Given the description of an element on the screen output the (x, y) to click on. 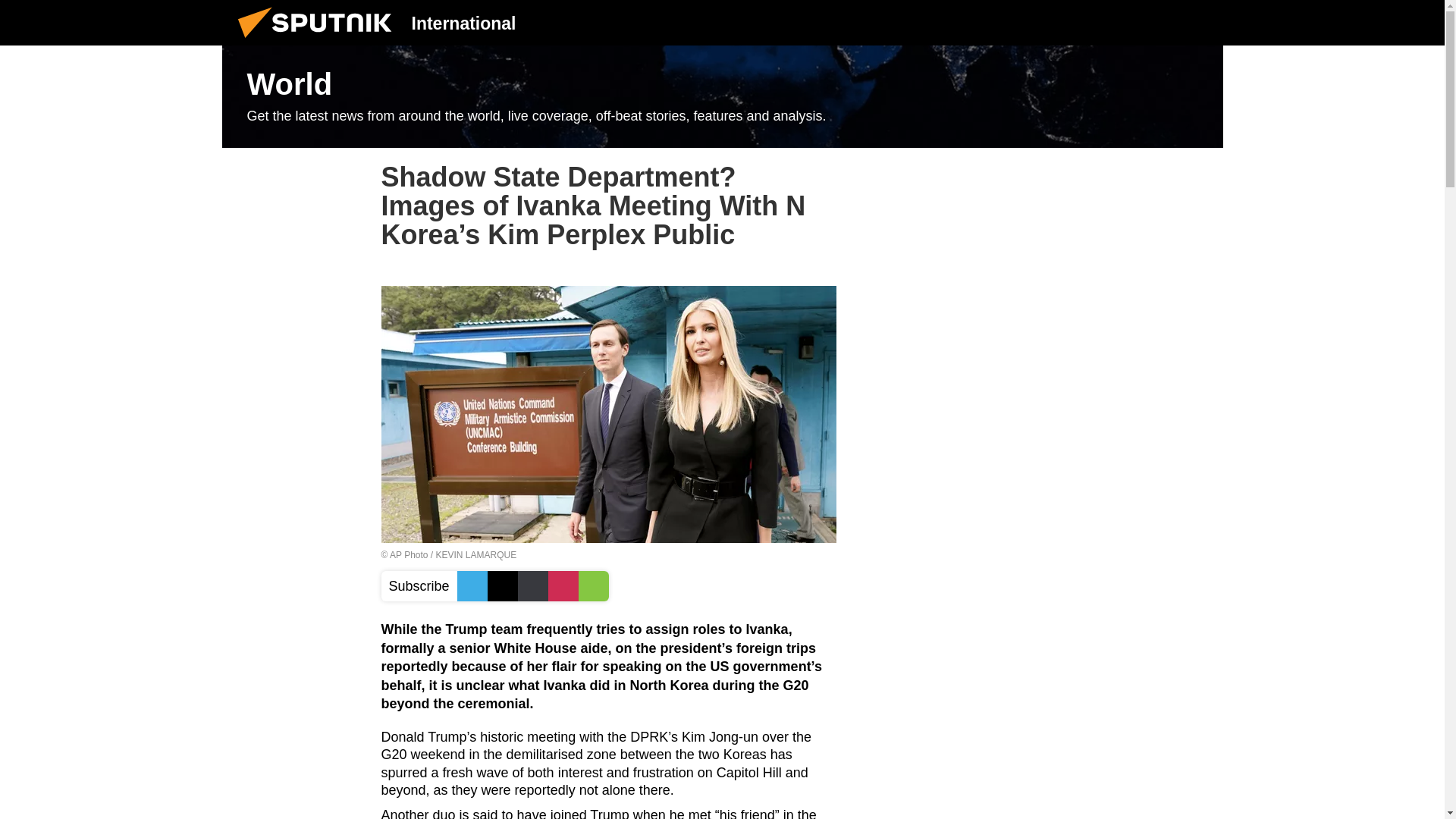
Authorization (1123, 22)
Chats (1199, 22)
Sputnik International (319, 41)
World (722, 96)
